Given the description of an element on the screen output the (x, y) to click on. 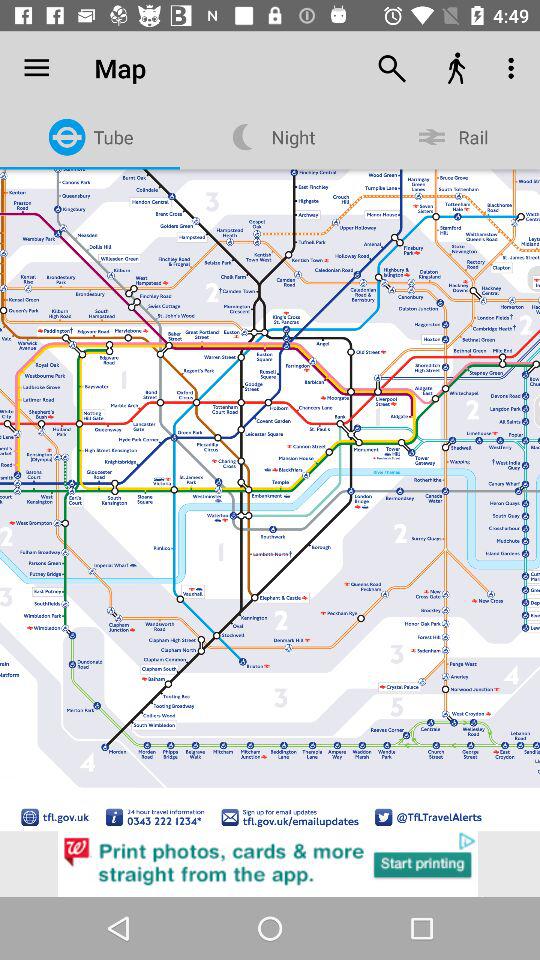
open advertisement (270, 864)
